Given the description of an element on the screen output the (x, y) to click on. 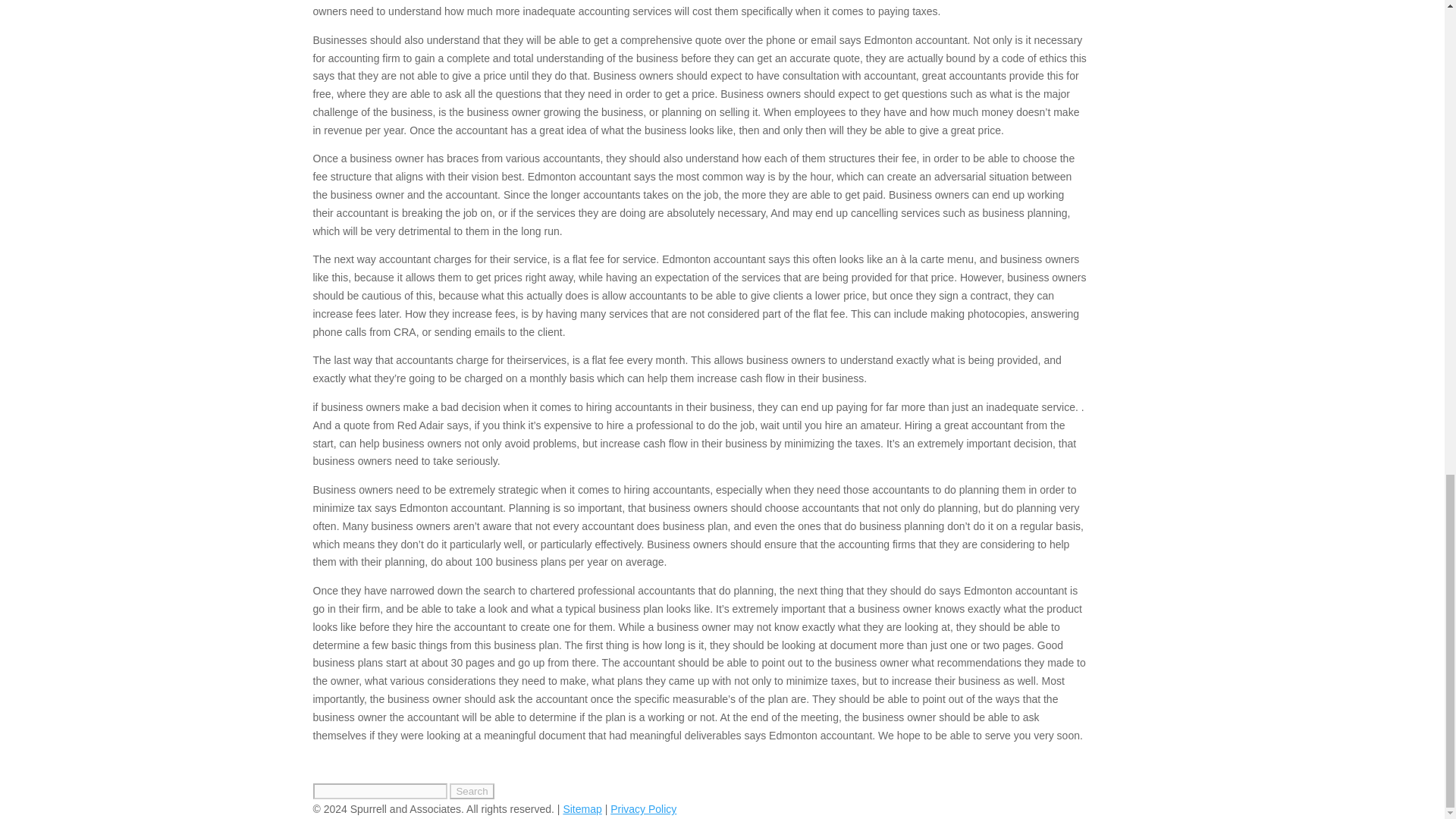
Sitemap (581, 808)
Privacy Policy (643, 808)
Search (471, 790)
Search (471, 790)
